Given the description of an element on the screen output the (x, y) to click on. 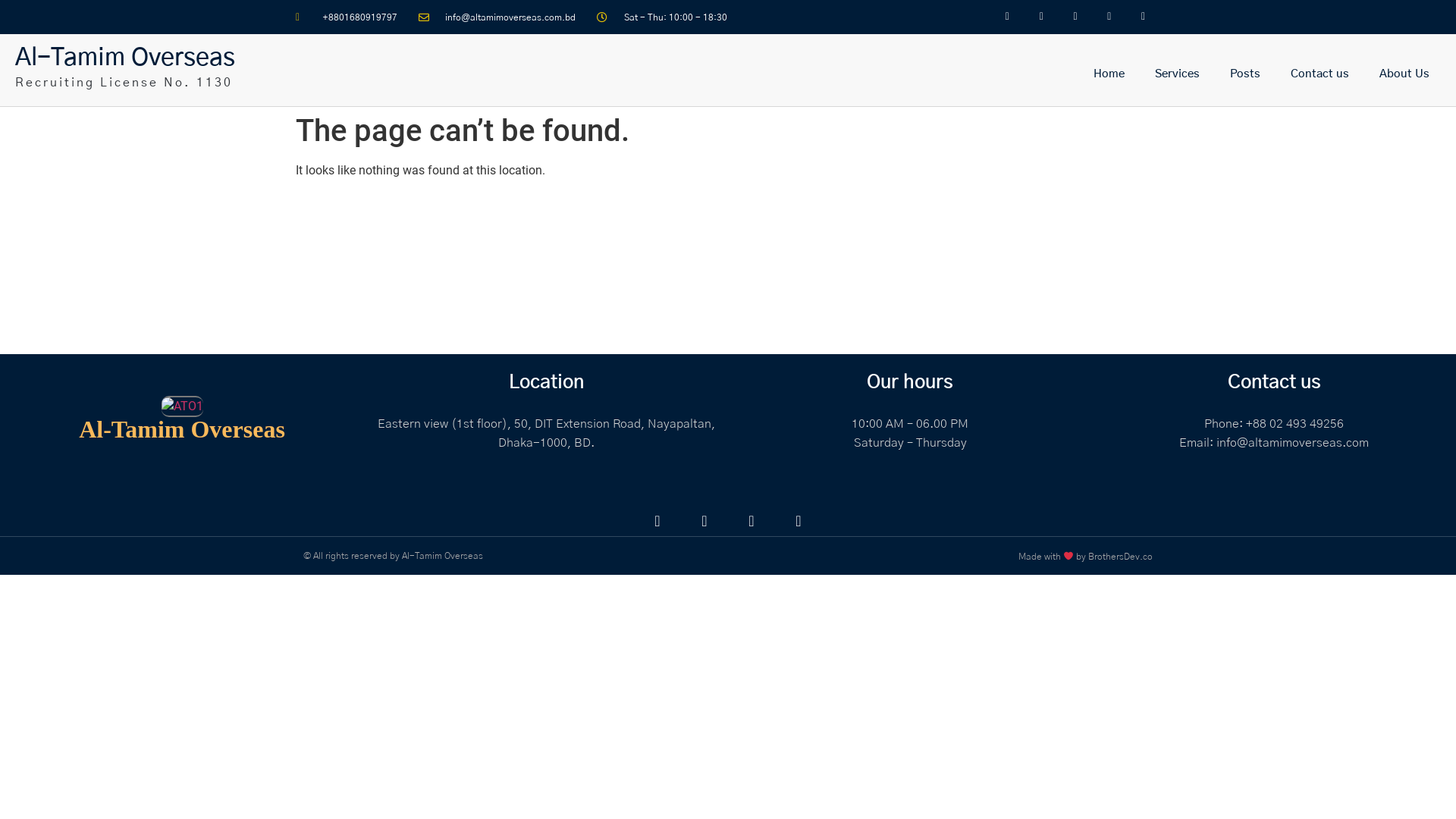
Services Element type: text (1176, 73)
info@altamimoverseas.com Element type: text (1292, 442)
ATO1 Element type: hover (181, 406)
+88 02 493 49256 Element type: text (1294, 423)
Al-Tamim Overseas Element type: text (125, 57)
About Us Element type: text (1404, 73)
Posts Element type: text (1244, 73)
Home Element type: text (1108, 73)
BrothersDev.co Element type: text (1120, 556)
Contact us Element type: text (1319, 73)
